Given the description of an element on the screen output the (x, y) to click on. 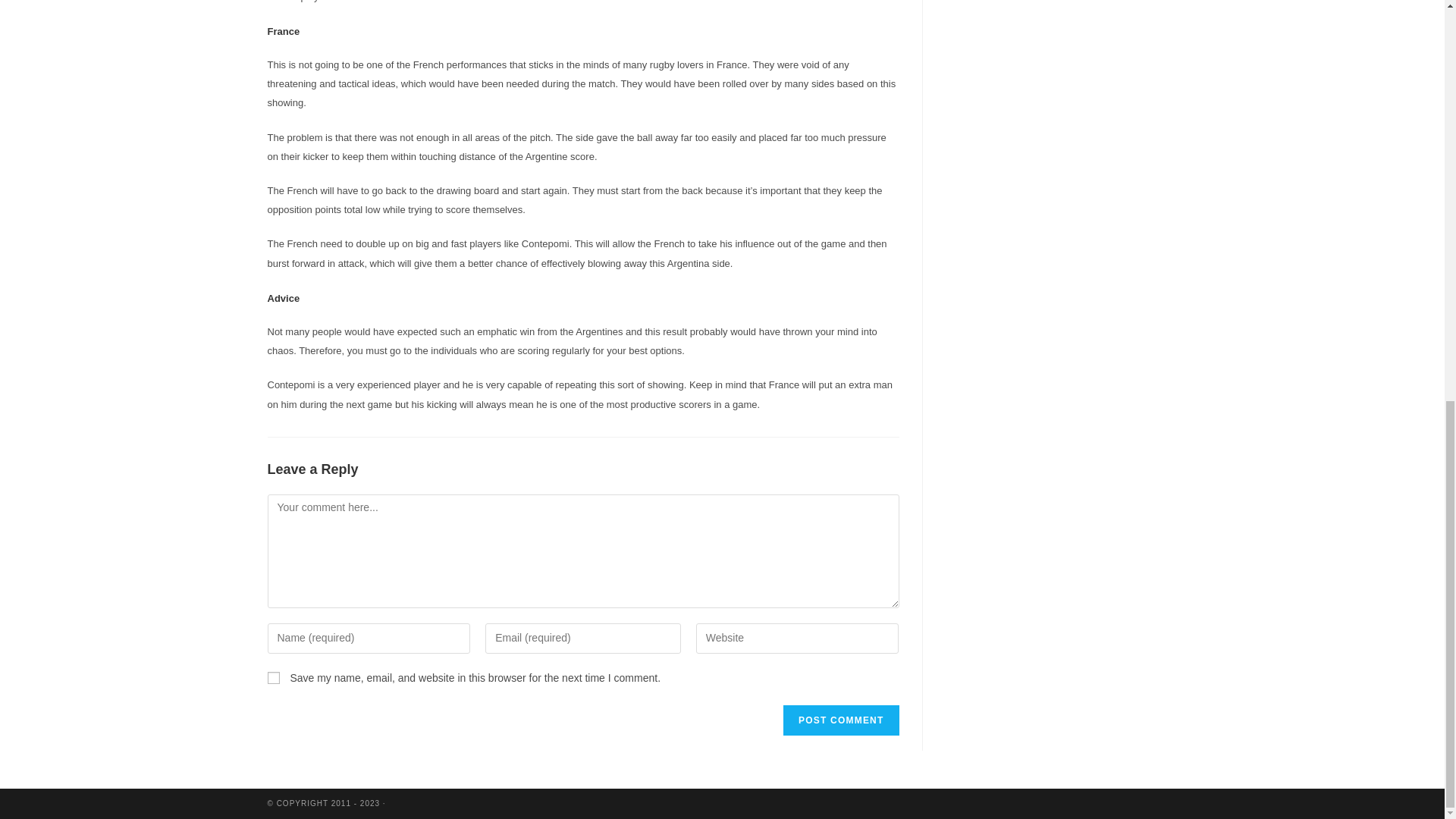
Post Comment (840, 720)
yes (272, 677)
Post Comment (840, 720)
